Given the description of an element on the screen output the (x, y) to click on. 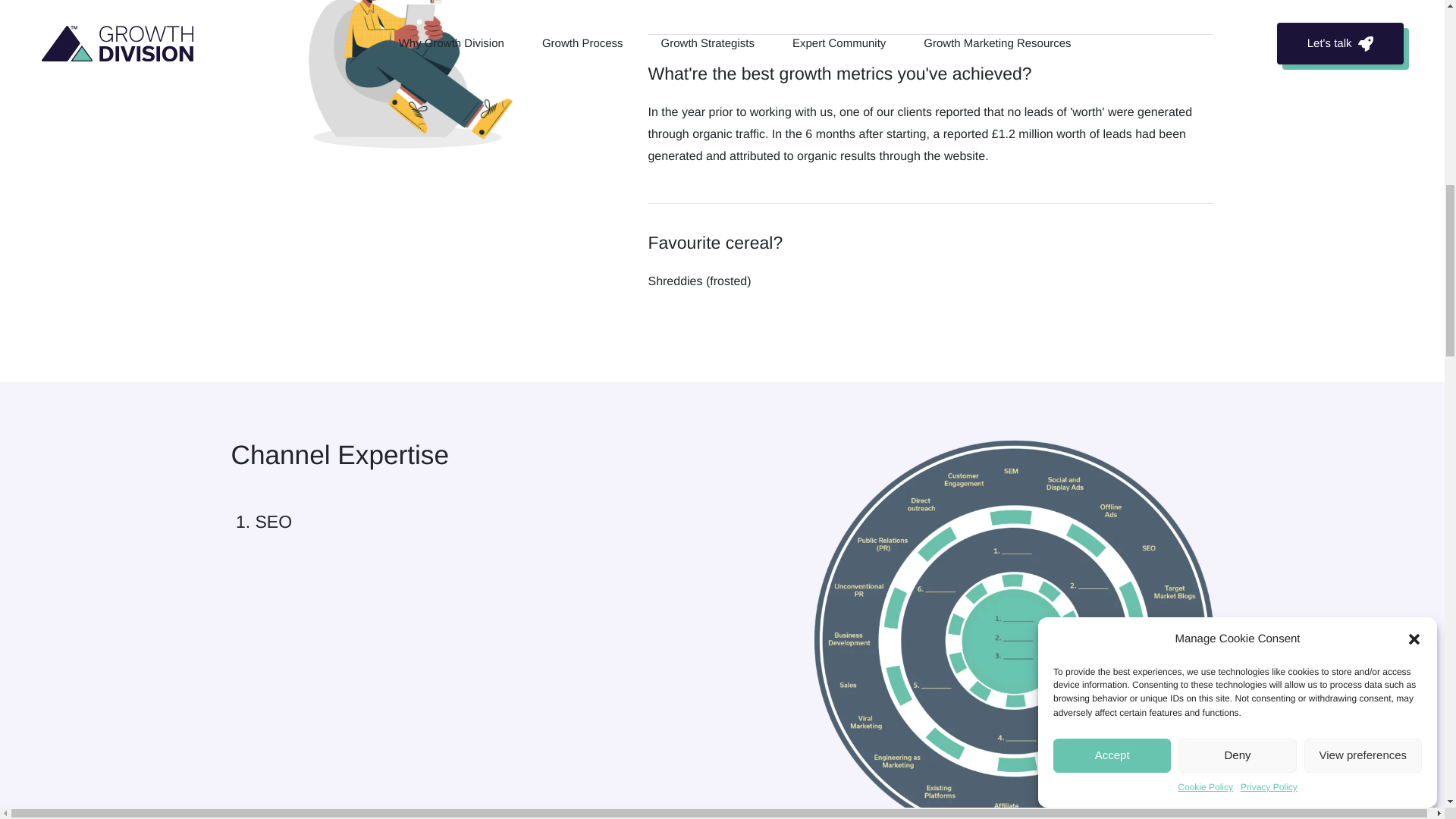
Accept (1111, 208)
Deny (1236, 193)
Privacy Policy (1268, 56)
View preferences (1363, 163)
Cookie Policy (1205, 71)
